Given the description of an element on the screen output the (x, y) to click on. 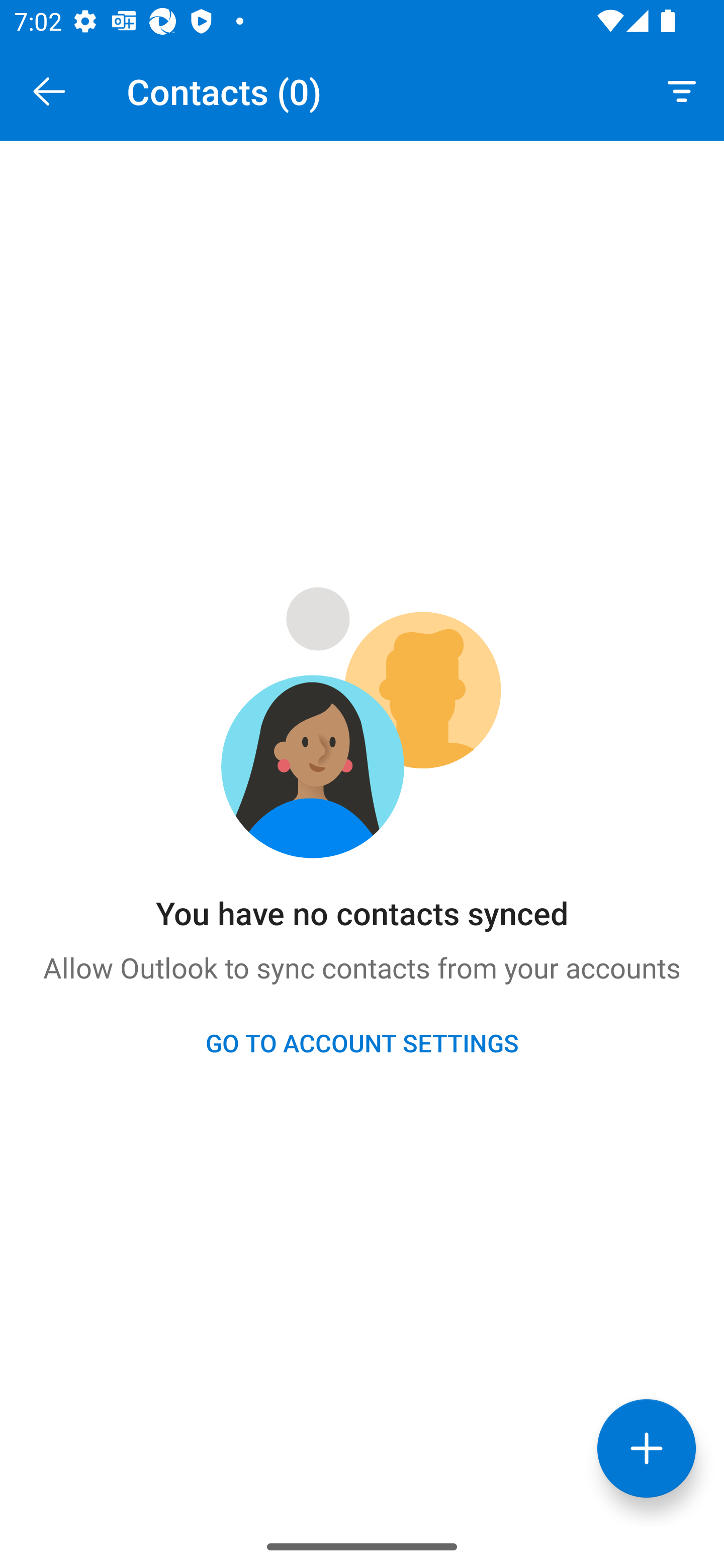
Navigate up (49, 91)
Filter (681, 90)
GO TO ACCOUNT SETTINGS (361, 1042)
Add new contact (646, 1447)
